Given the description of an element on the screen output the (x, y) to click on. 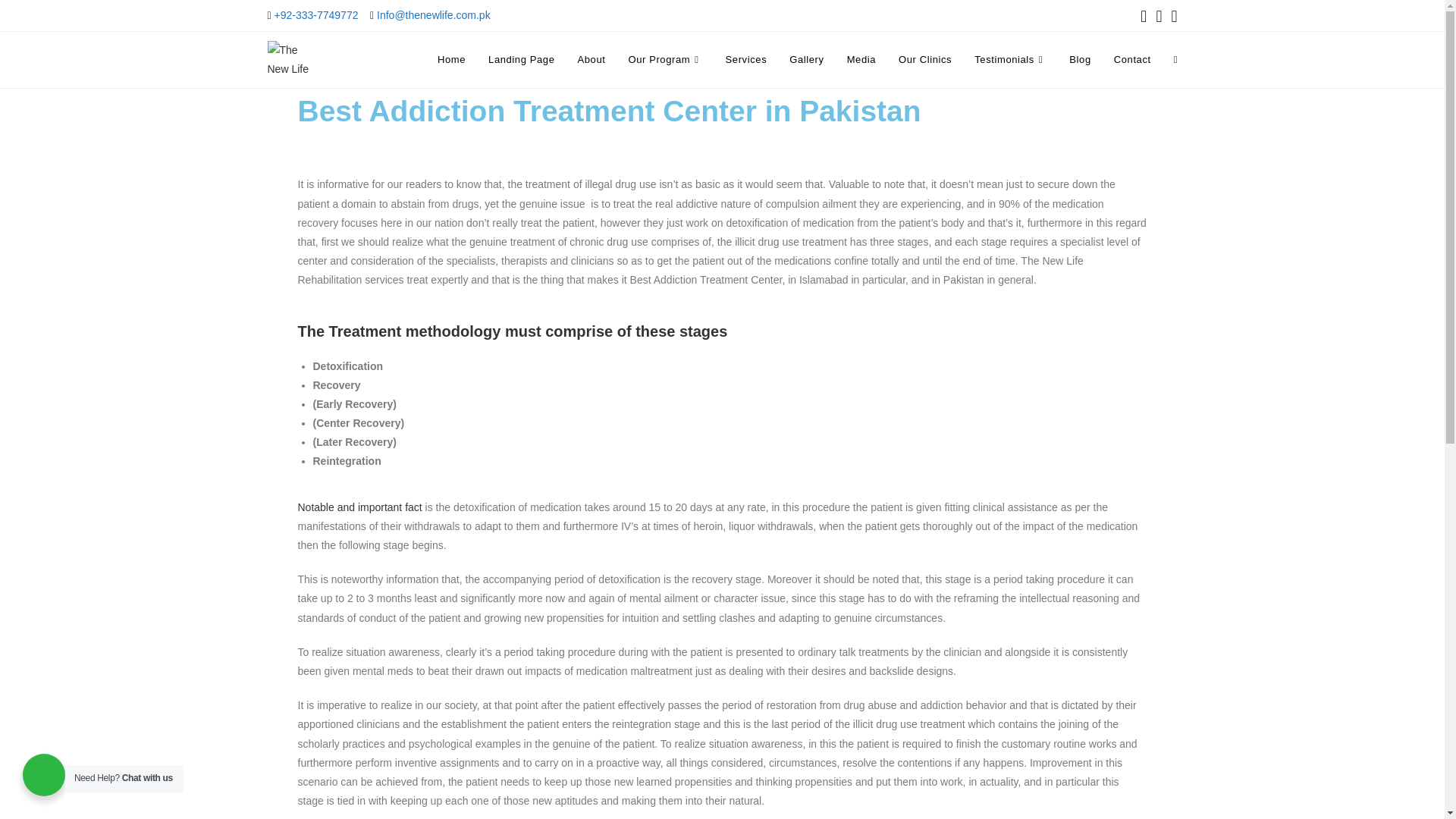
Our Clinics (924, 59)
Gallery (805, 59)
Our Program (664, 59)
Media (860, 59)
Landing Page (521, 59)
Home (451, 59)
Testimonials (1010, 59)
About (590, 59)
Services (746, 59)
